Given the description of an element on the screen output the (x, y) to click on. 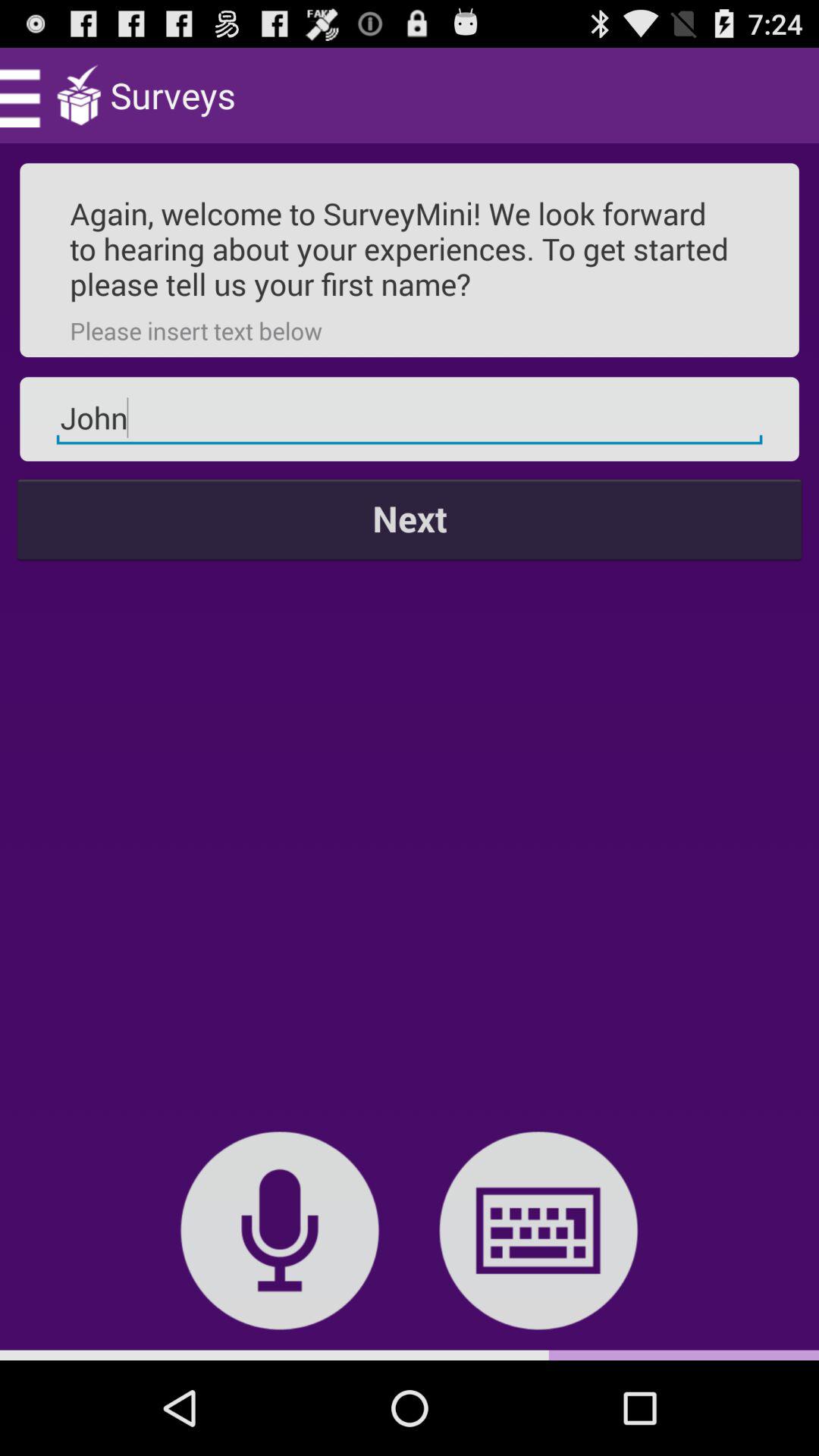
launch the john item (409, 419)
